Given the description of an element on the screen output the (x, y) to click on. 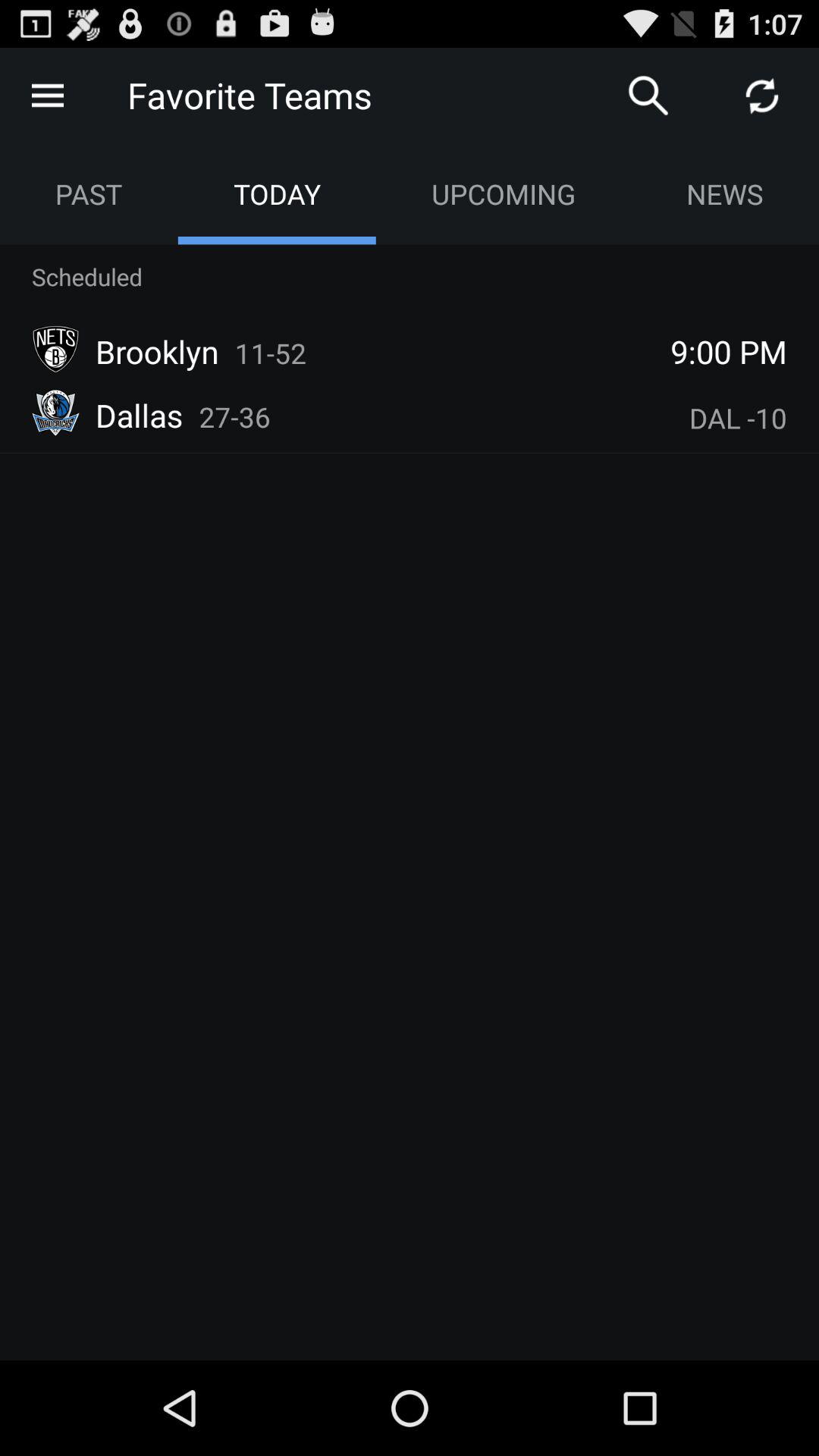
turn on app below the favorite teams app (276, 193)
